Given the description of an element on the screen output the (x, y) to click on. 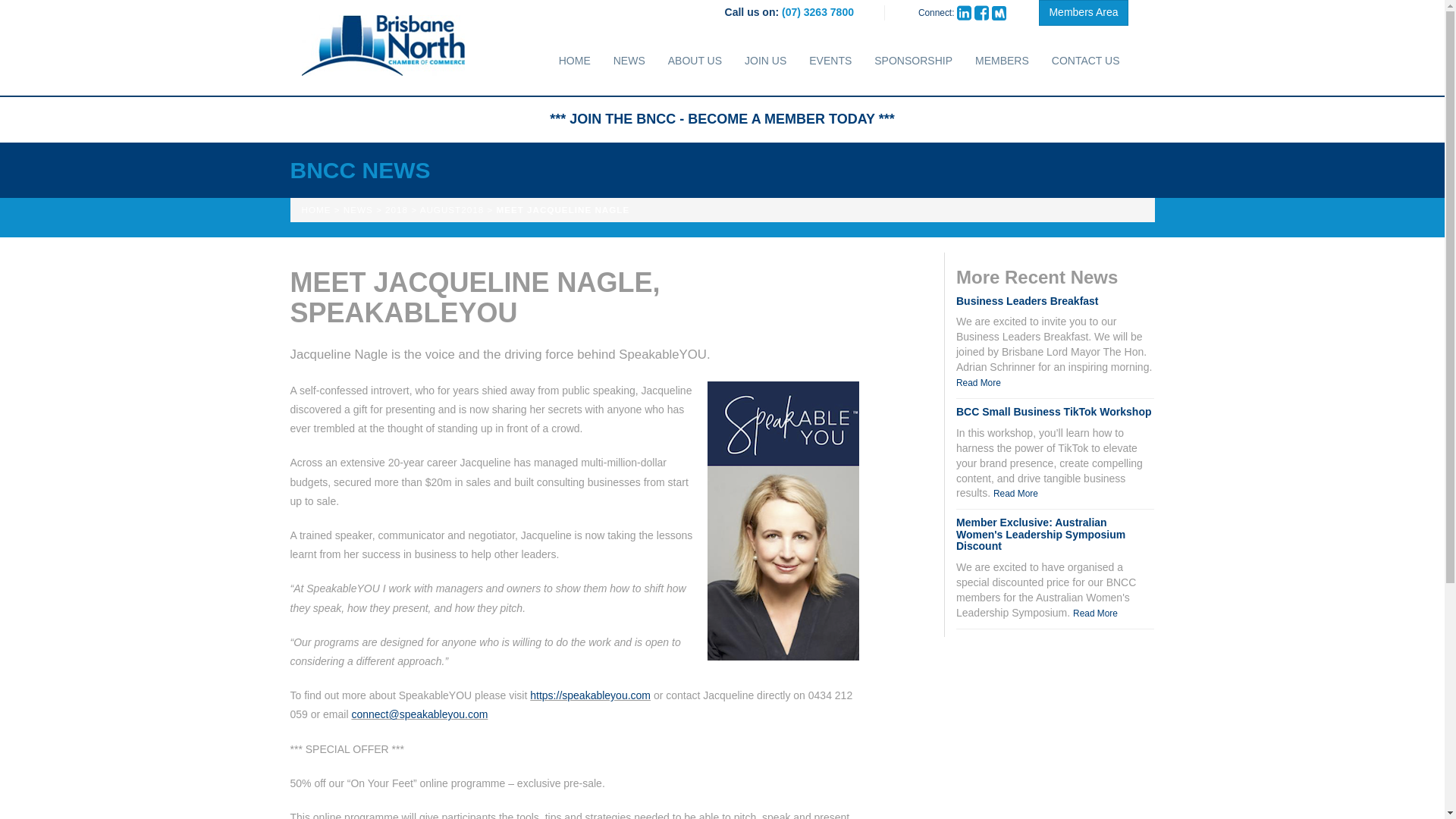
Read More (978, 382)
MEET JACQUELINE NAGLE (562, 209)
SPONSORSHIP (913, 60)
BCC Small Business TikTok Workshop (1053, 411)
Members Area (1082, 12)
NEWS (357, 209)
EVENTS (830, 60)
HOME (316, 209)
CONTACT US (1086, 60)
ABOUT US (694, 60)
NEWS (629, 60)
AUGUST2018 (452, 209)
MEMBERS (1002, 60)
Read More (1095, 613)
